Given the description of an element on the screen output the (x, y) to click on. 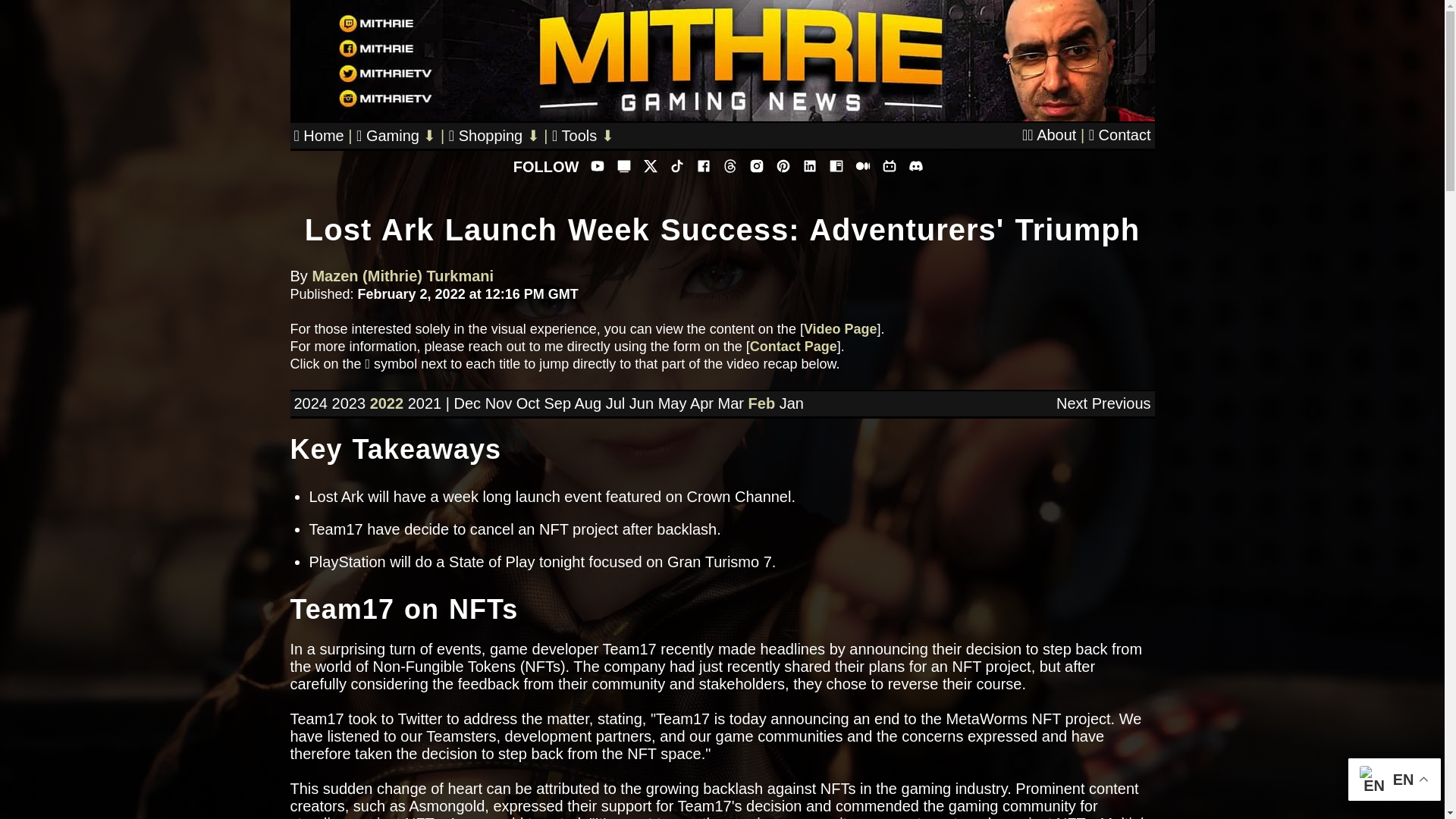
2024 (311, 402)
Video Page (840, 328)
2021 (424, 402)
Contact Page (793, 346)
Dec (466, 402)
2023 (348, 402)
